Given the description of an element on the screen output the (x, y) to click on. 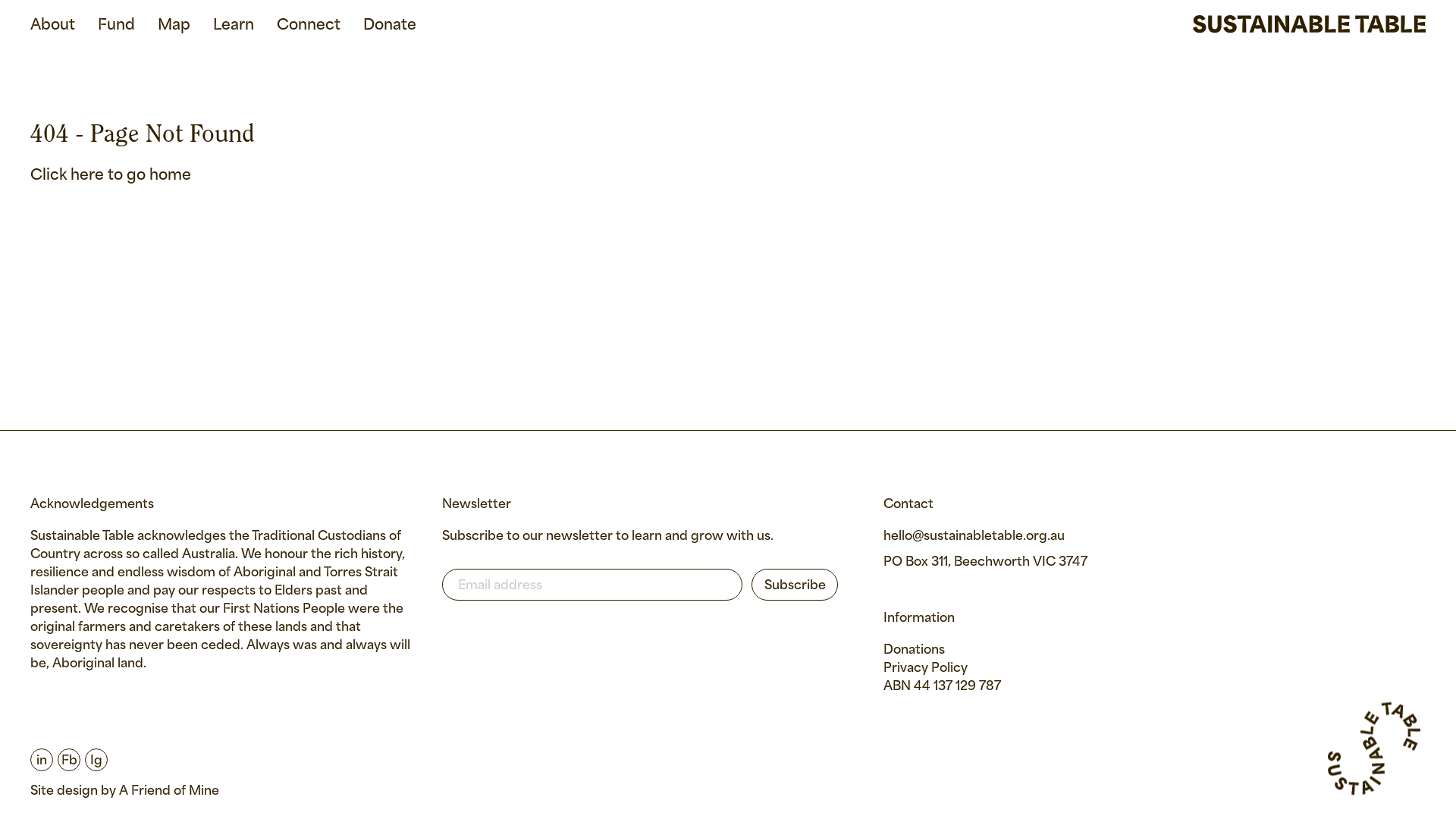
Fb Element type: text (66, 759)
hello@sustainabletable.org.au Element type: text (973, 536)
Donate Element type: text (389, 25)
Privacy Policy Element type: text (925, 668)
About Element type: text (52, 25)
Map Element type: text (173, 25)
Donations Element type: text (913, 649)
Learn Element type: text (233, 25)
Fund Element type: text (115, 25)
Click here to go home Element type: text (110, 175)
in Element type: text (41, 759)
Connect Element type: text (308, 25)
Ig Element type: text (93, 759)
A Friend of Mine Element type: text (169, 790)
Subscribe Element type: text (794, 584)
